Given the description of an element on the screen output the (x, y) to click on. 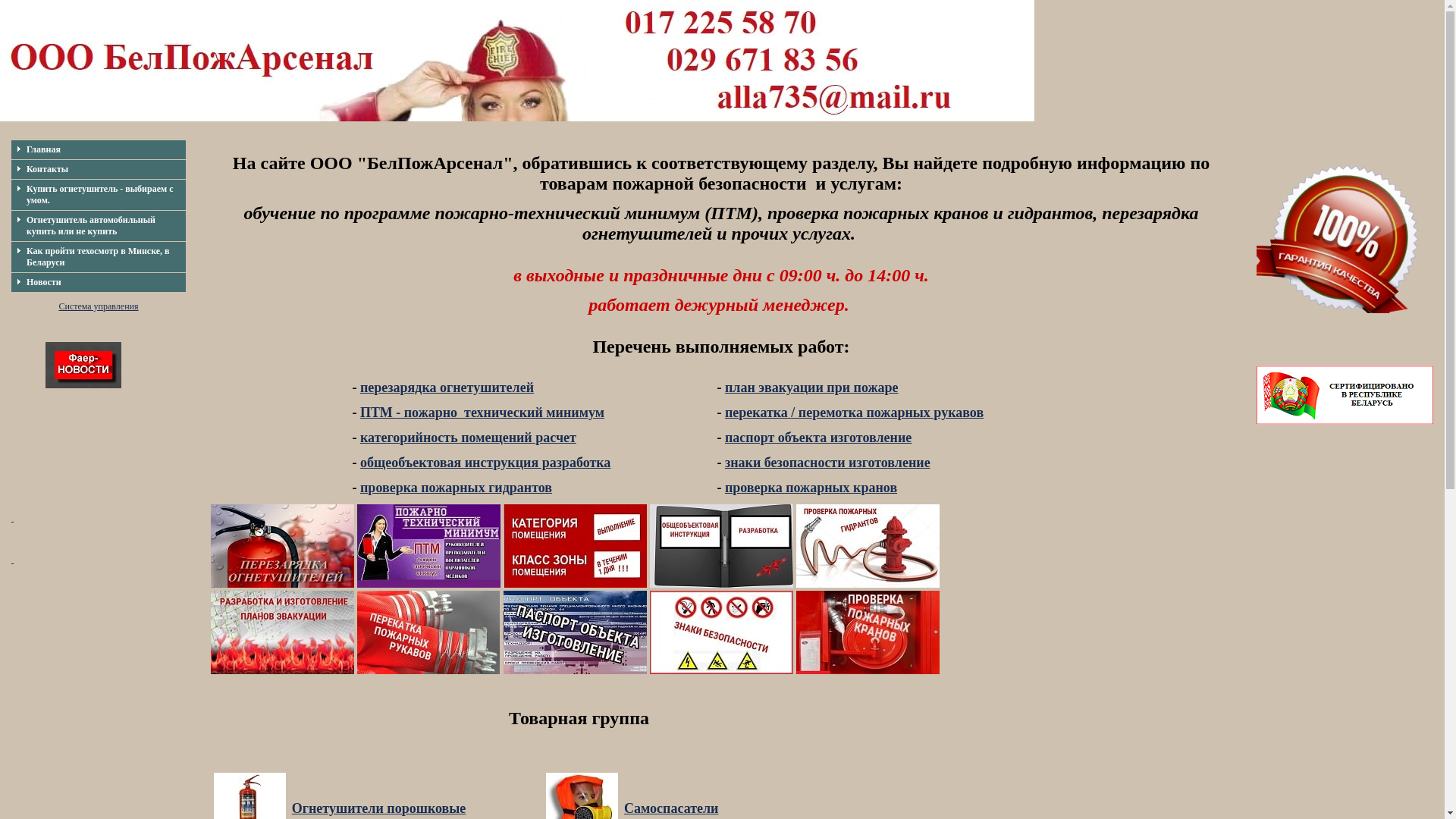
  Element type: text (12, 517)
  Element type: text (12, 559)
